Given the description of an element on the screen output the (x, y) to click on. 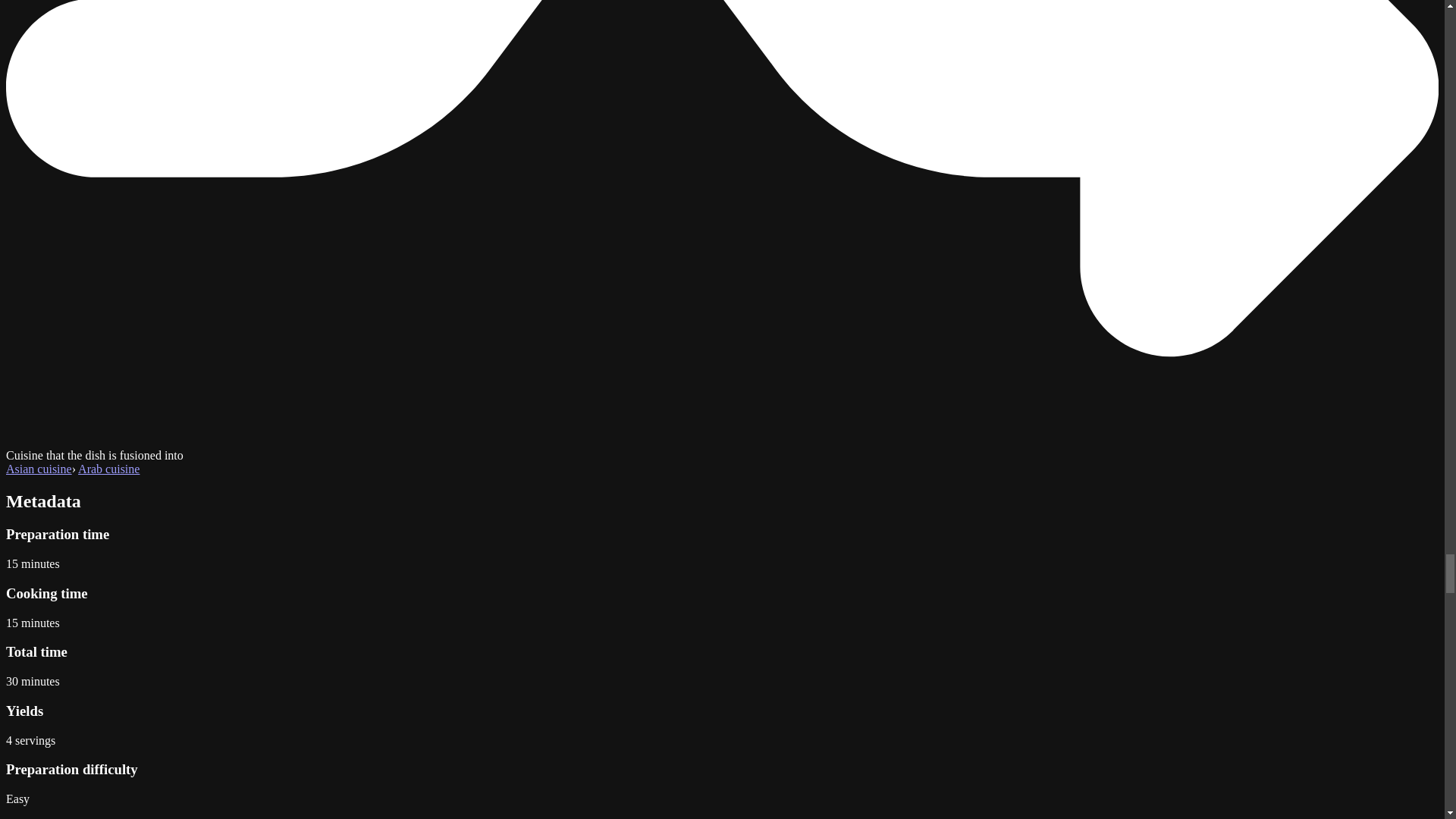
Asian cuisine (38, 468)
Arab cuisine (108, 468)
